Given the description of an element on the screen output the (x, y) to click on. 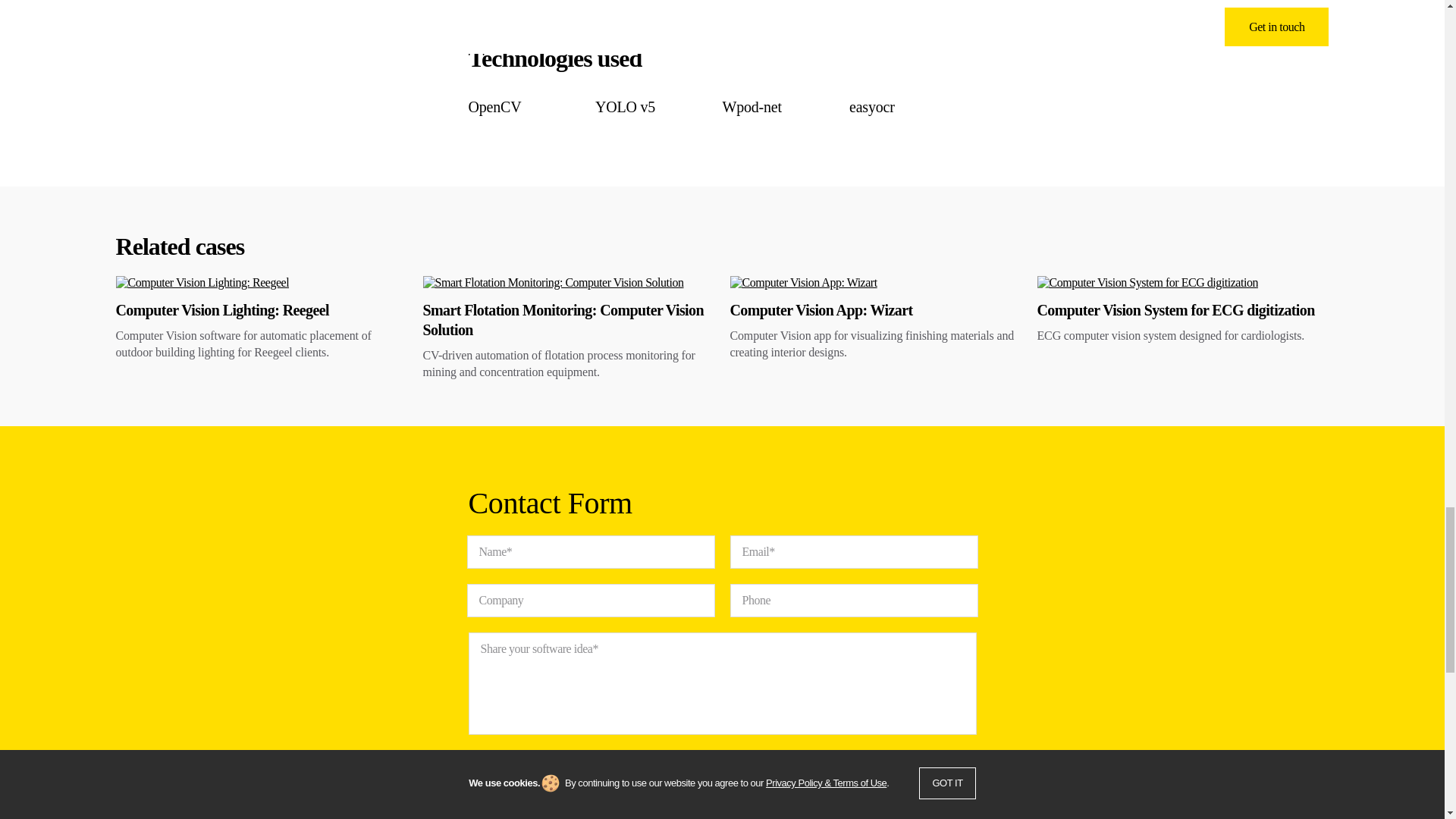
Privacy Policy (613, 813)
